Given the description of an element on the screen output the (x, y) to click on. 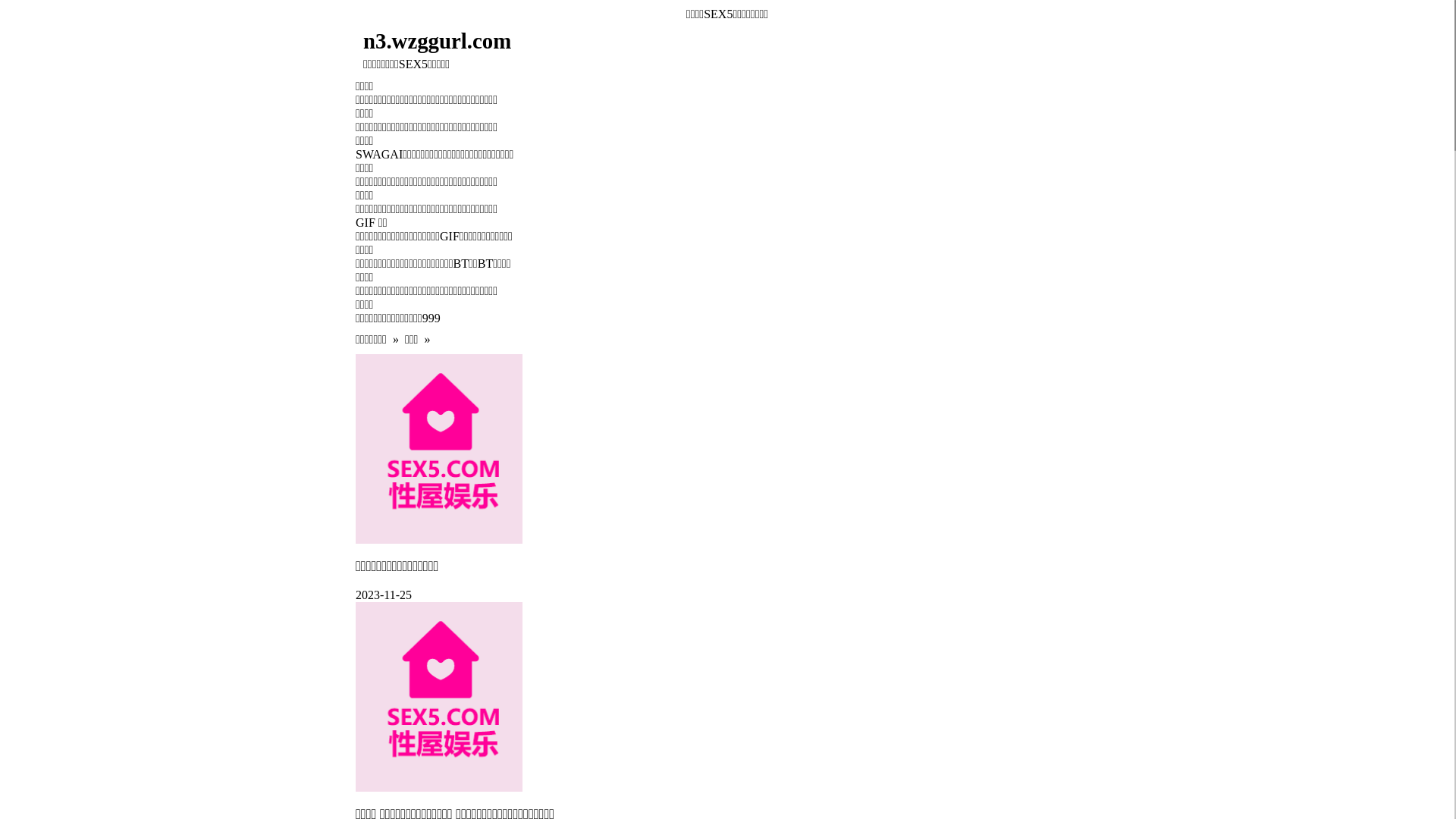
n3.wzggurl.com Element type: text (634, 40)
SWAG Element type: text (372, 153)
